Given the description of an element on the screen output the (x, y) to click on. 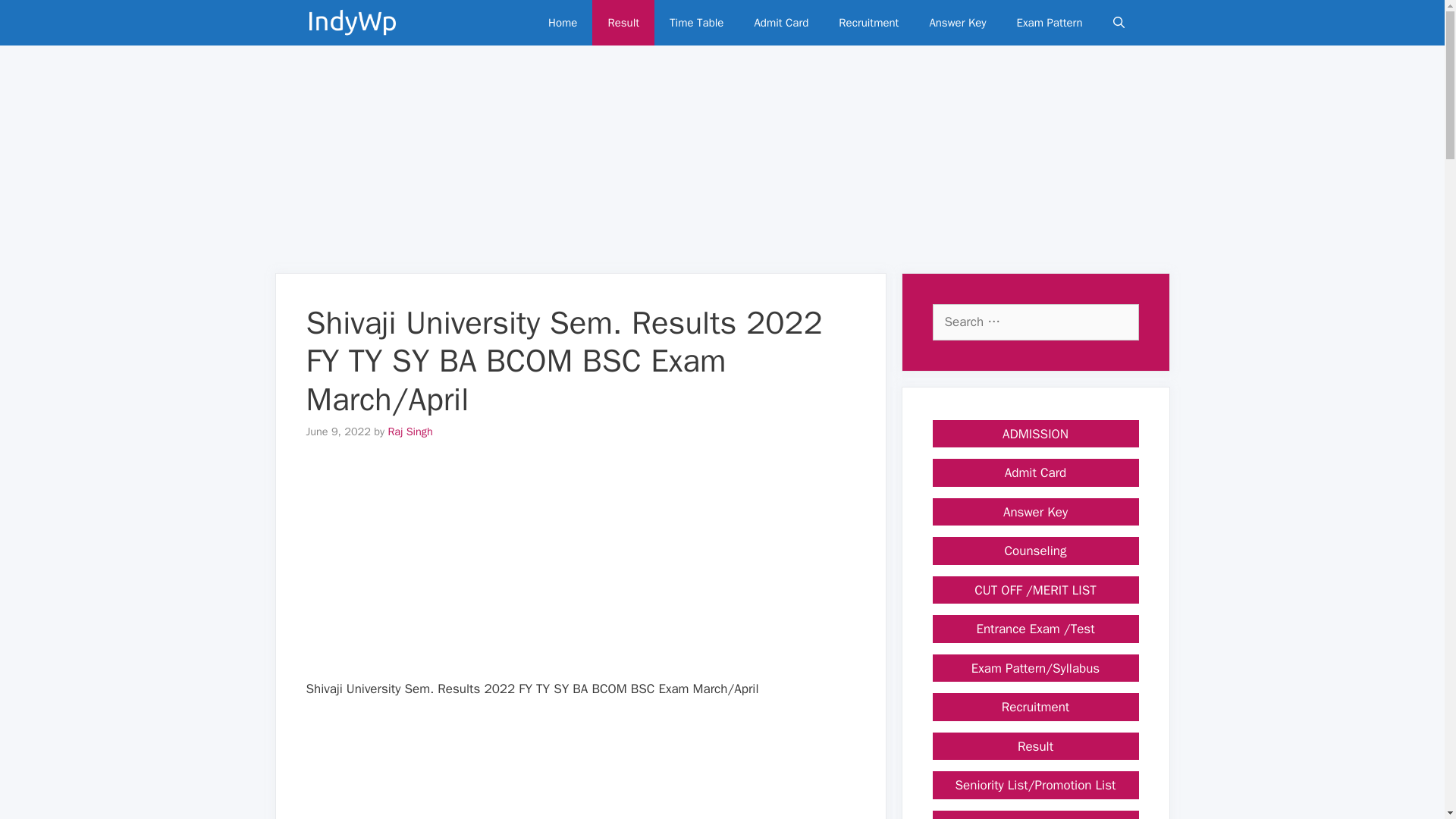
Answer Key (957, 22)
University Exam Results, Time Table, Admit Card 2022 (351, 22)
Search for: (1035, 321)
Raj Singh (409, 431)
Advertisement (580, 572)
Result (622, 22)
View all posts by Raj Singh (409, 431)
Home (562, 22)
Exam Pattern (1049, 22)
Recruitment (869, 22)
Search (34, 17)
Admit Card (781, 22)
Time Table (695, 22)
ADMISSION (1035, 433)
